Given the description of an element on the screen output the (x, y) to click on. 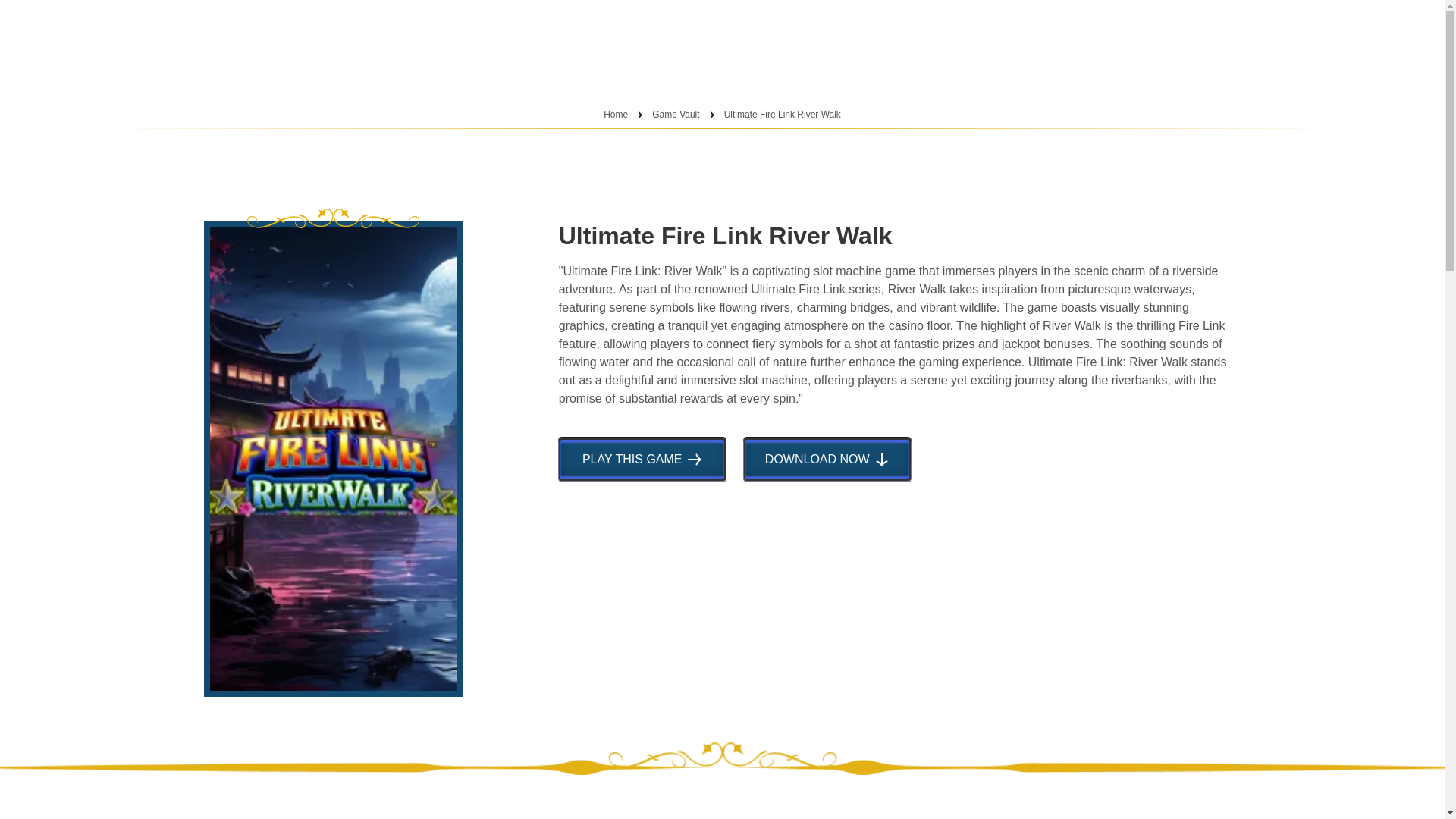
Game Vault (675, 114)
PLAY THIS GAME (642, 459)
DOWNLOAD NOW (827, 459)
Home (615, 114)
